Given the description of an element on the screen output the (x, y) to click on. 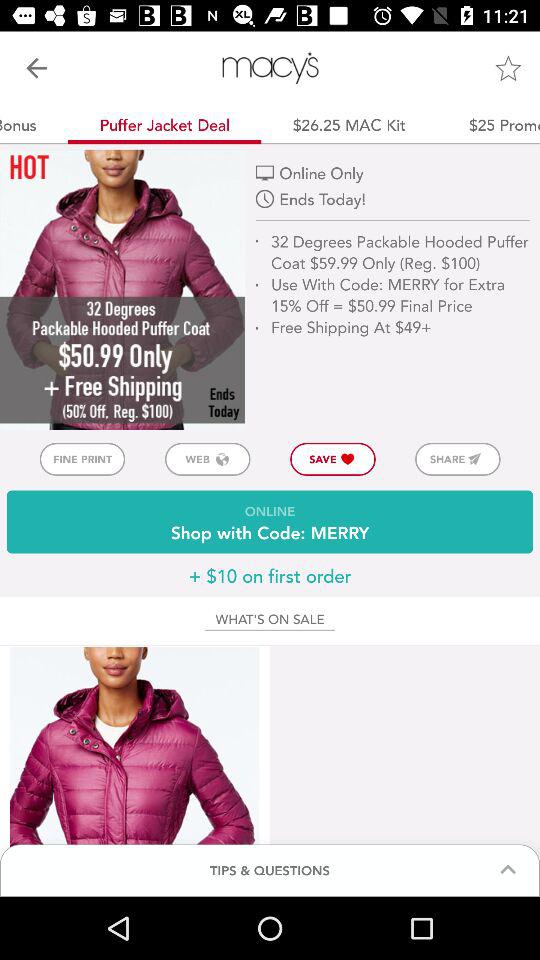
select $10 bonus app (34, 124)
